Given the description of an element on the screen output the (x, y) to click on. 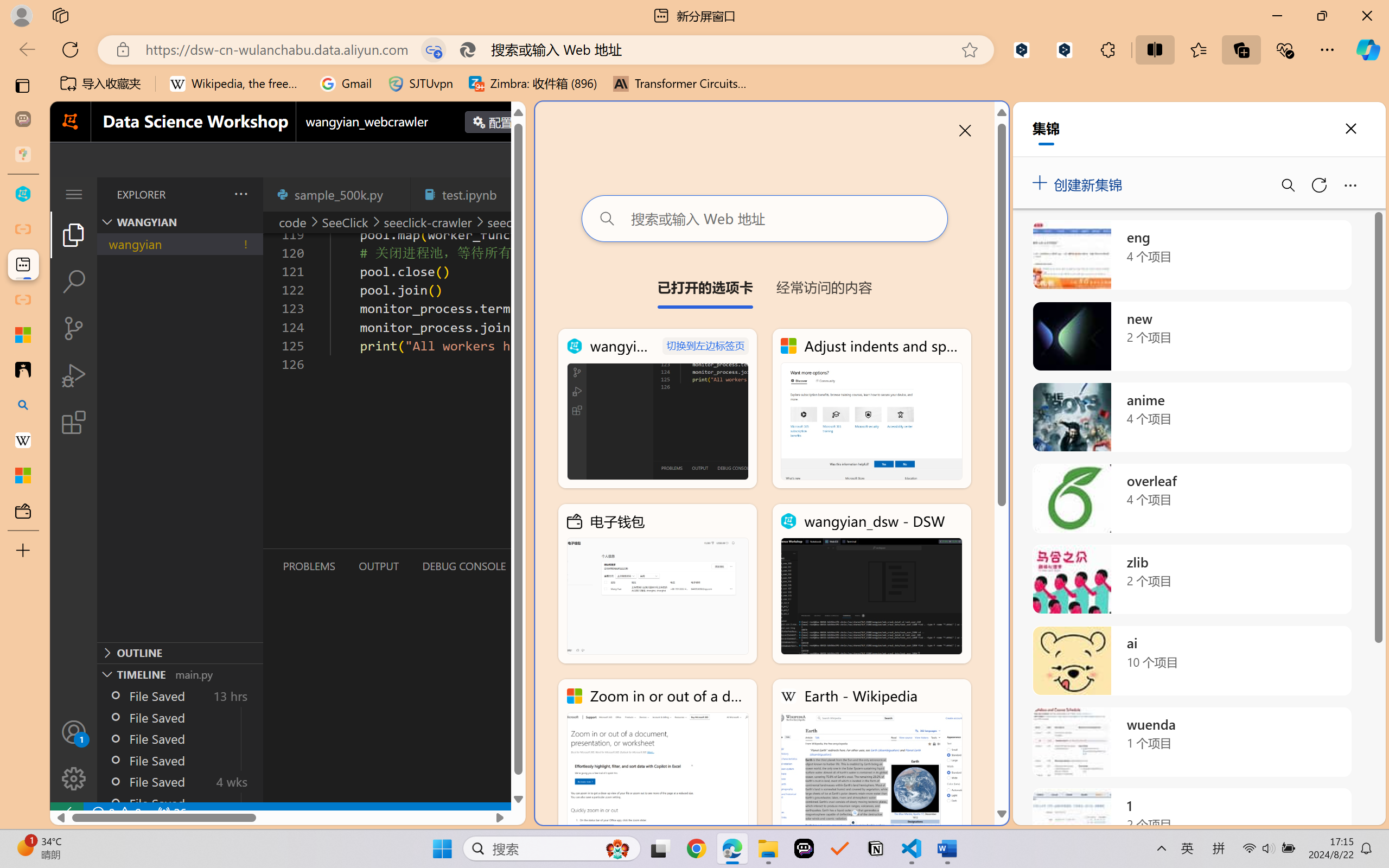
Adjust indents and spacing - Microsoft Support (22, 334)
Search (Ctrl+Shift+F) (73, 281)
Problems (Ctrl+Shift+M) (308, 565)
Manage (73, 778)
Source Control (Ctrl+Shift+G) (73, 328)
Run and Debug (Ctrl+Shift+D) (73, 375)
Timeline Section (179, 673)
